Given the description of an element on the screen output the (x, y) to click on. 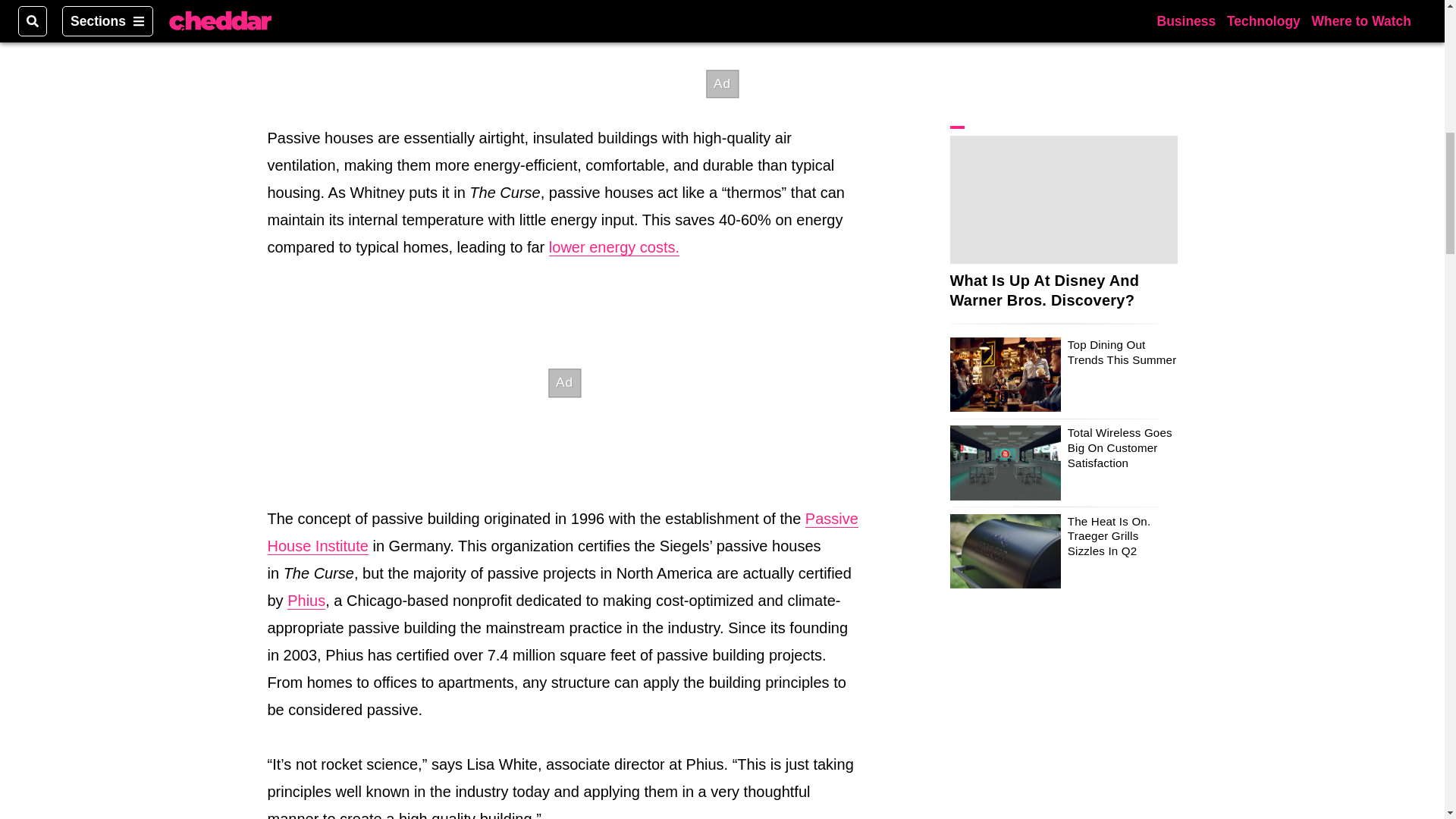
3rd party ad content (563, 382)
Passive House Institute (561, 532)
lower energy costs. (613, 247)
Phius (305, 600)
